Given the description of an element on the screen output the (x, y) to click on. 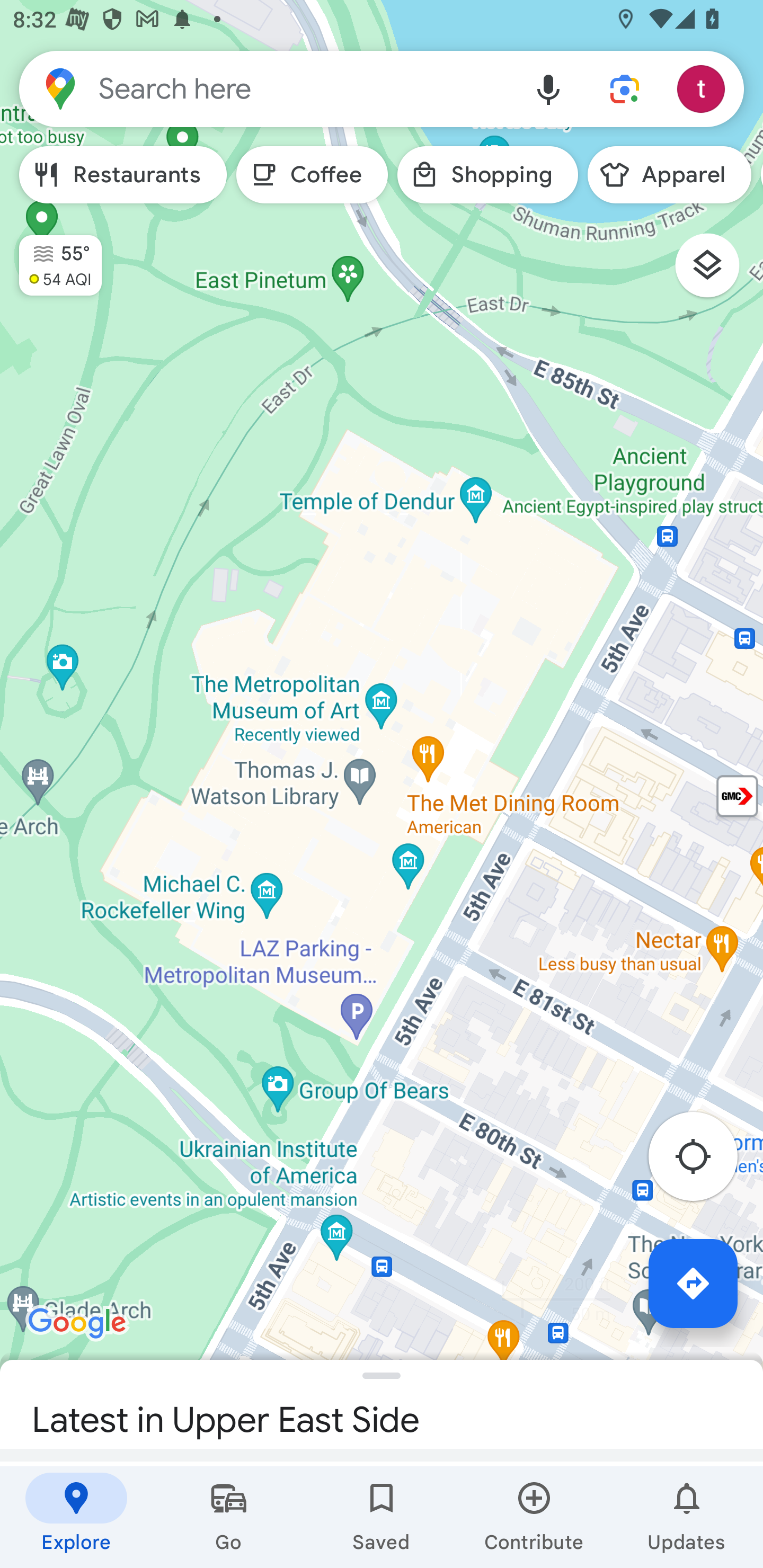
Search here (264, 88)
Voice search (548, 88)
Lens in Maps (624, 88)
Account and settings. (703, 88)
Restaurants Search for Restaurants (122, 174)
Coffee Search for Coffee (311, 174)
Shopping Search for Shopping (487, 174)
Apparel Search for Apparel (669, 174)
Mist, 55°, Moderate, 54 AQI 55° 54 AQI (50, 257)
Layers (716, 271)
Re-center map to your location (702, 1161)
Directions (692, 1283)
Go (228, 1517)
Saved (381, 1517)
Contribute (533, 1517)
Updates (686, 1517)
